Given the description of an element on the screen output the (x, y) to click on. 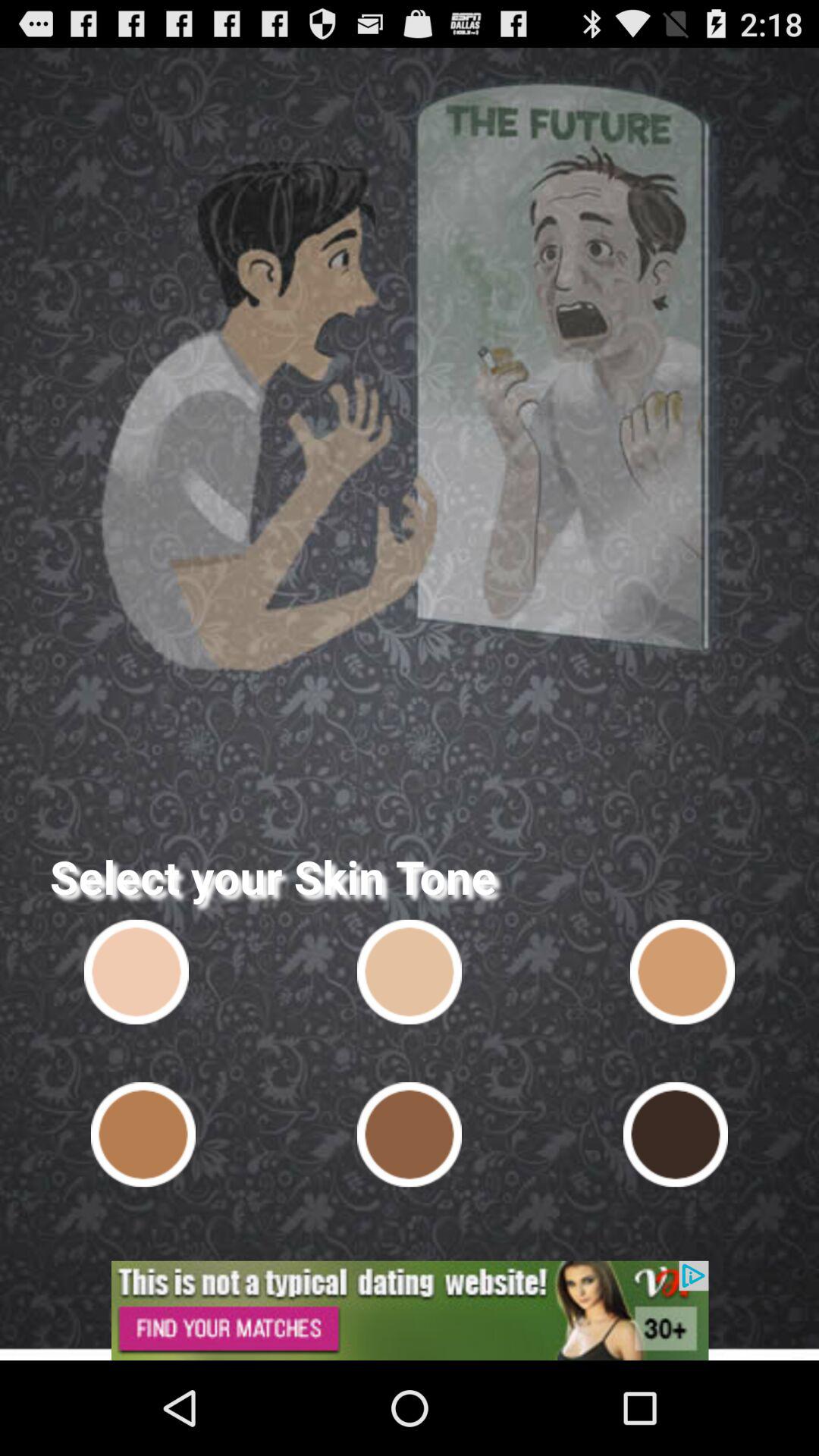
choose this (675, 1134)
